Given the description of an element on the screen output the (x, y) to click on. 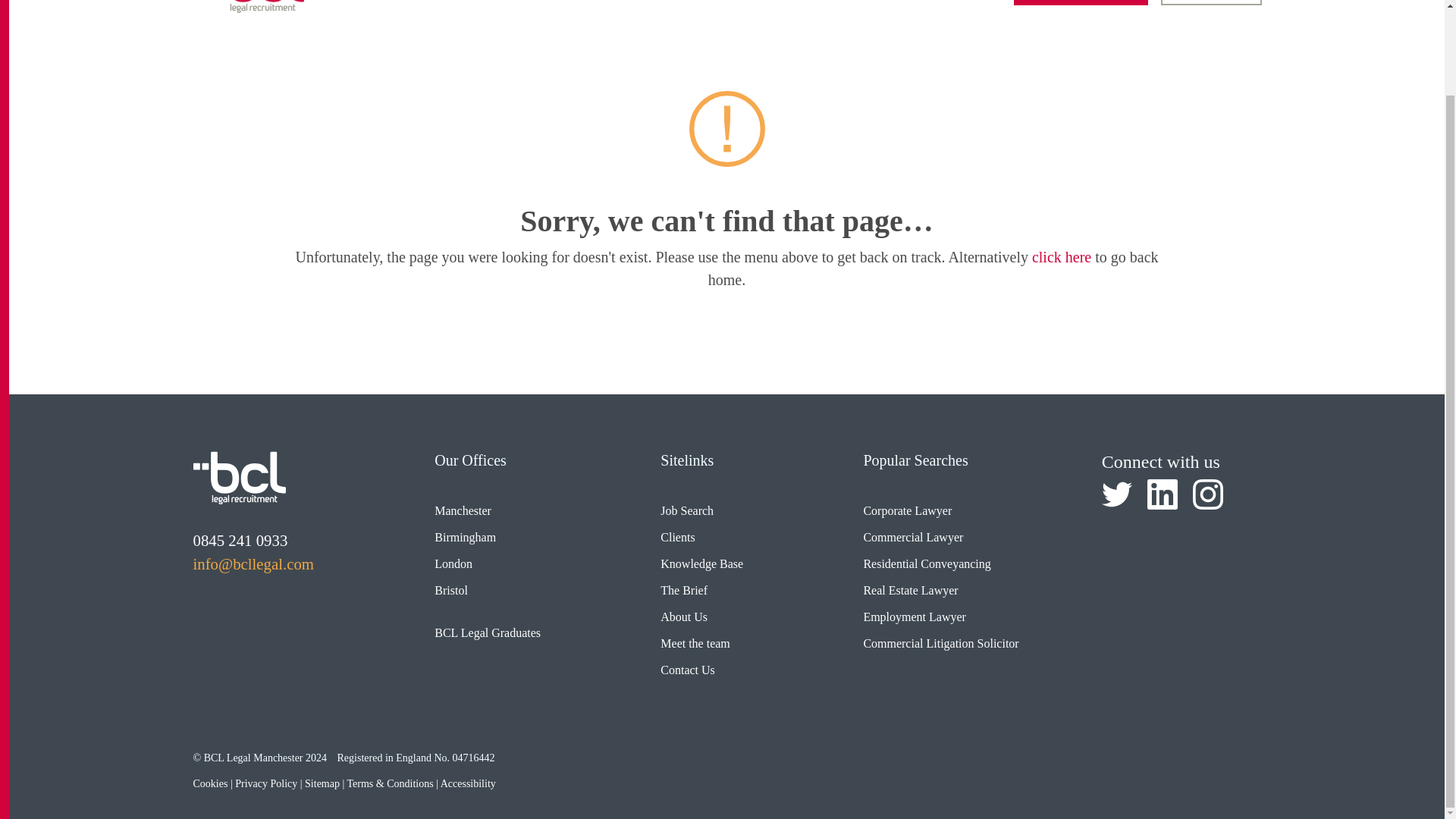
Job Search (684, 0)
BCL Legal on Twitter (1117, 494)
Knowledge Base (859, 0)
BCL Legal on LinkedIn (1162, 494)
The Brief (967, 0)
SEND YOUR CV (1080, 2)
BRIEF US (1210, 2)
BCL Legal on Instagram (1207, 494)
Clients (764, 0)
BCL Legal Recruitment (238, 477)
